Given the description of an element on the screen output the (x, y) to click on. 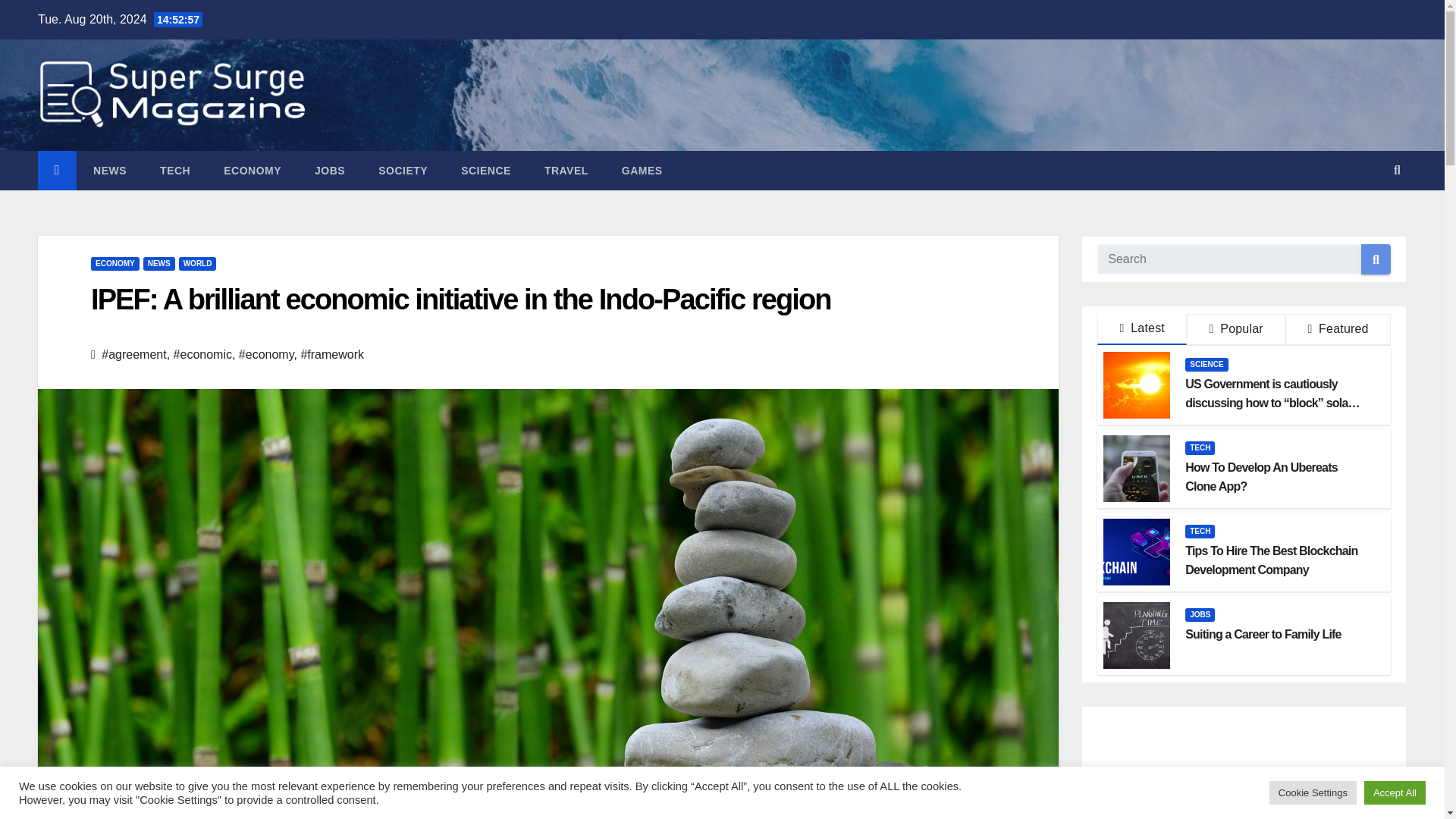
GAMES (642, 170)
Society (402, 170)
WORLD (197, 264)
News (109, 170)
Science (485, 170)
ECONOMY (114, 264)
Economy (252, 170)
Games (642, 170)
Travel (566, 170)
